Given the description of an element on the screen output the (x, y) to click on. 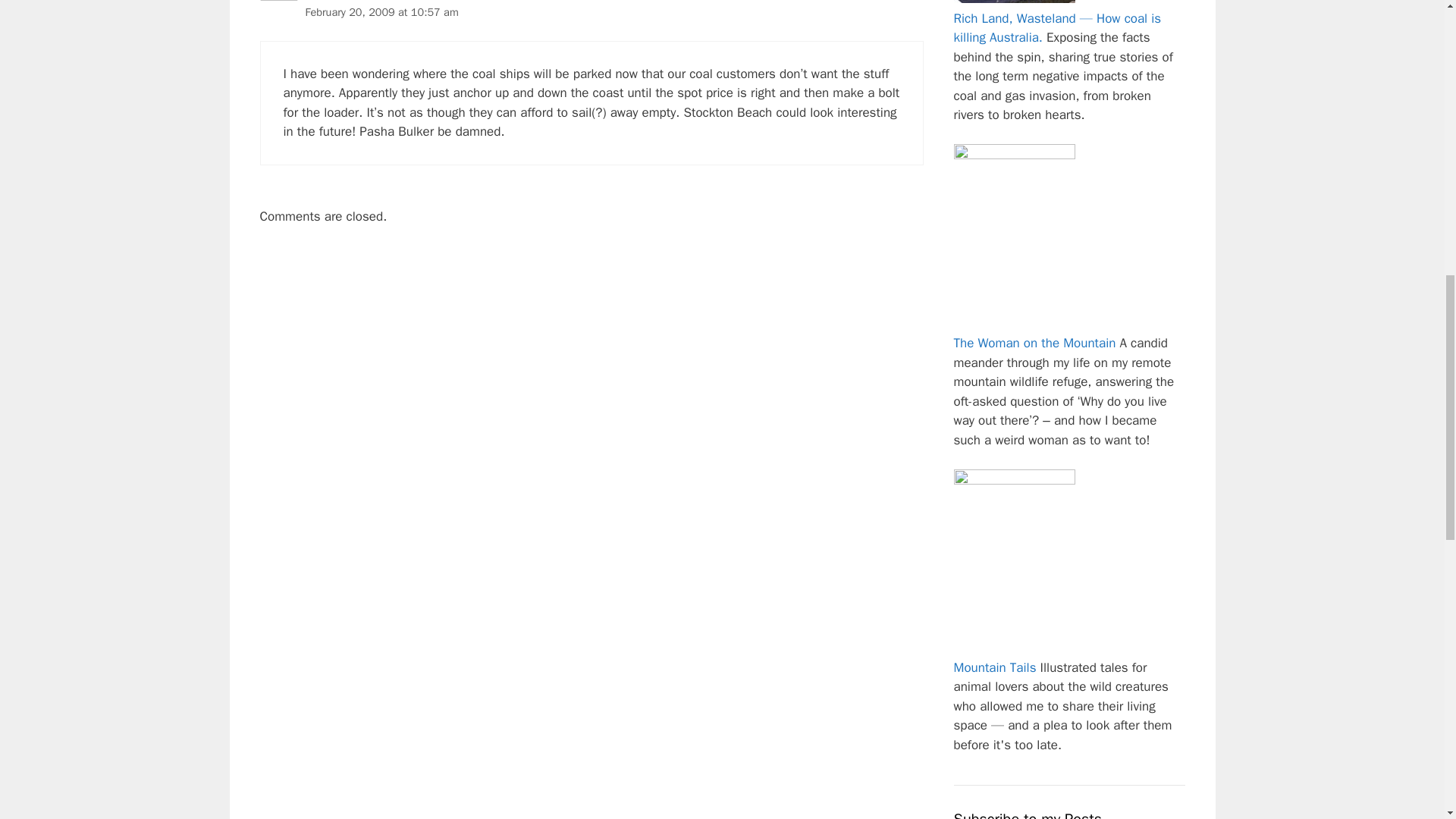
Mountain Tails (994, 667)
February 20, 2009 at 10:57 am (381, 11)
The Woman on the Mountain (1034, 342)
